Given the description of an element on the screen output the (x, y) to click on. 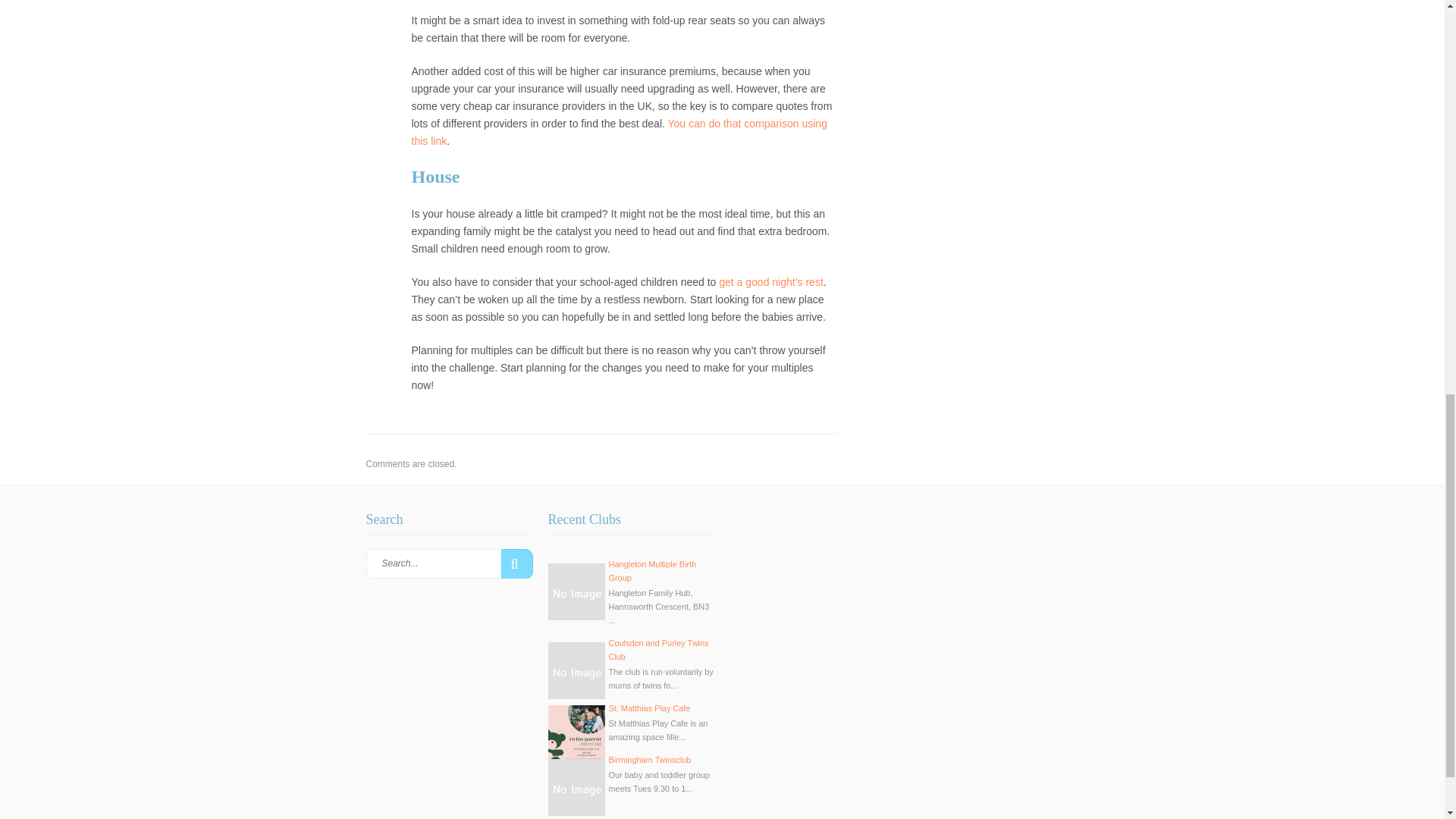
Birmingham Twinsclub (649, 759)
St. Matthias Play Cafe (649, 707)
Coulsdon and Purley Twins Club (657, 649)
Hangleton Multiple Birth Group (651, 570)
Twins Parenting 1x1 Socials.jpg (575, 733)
You can do that comparison using this link (618, 132)
